Given the description of an element on the screen output the (x, y) to click on. 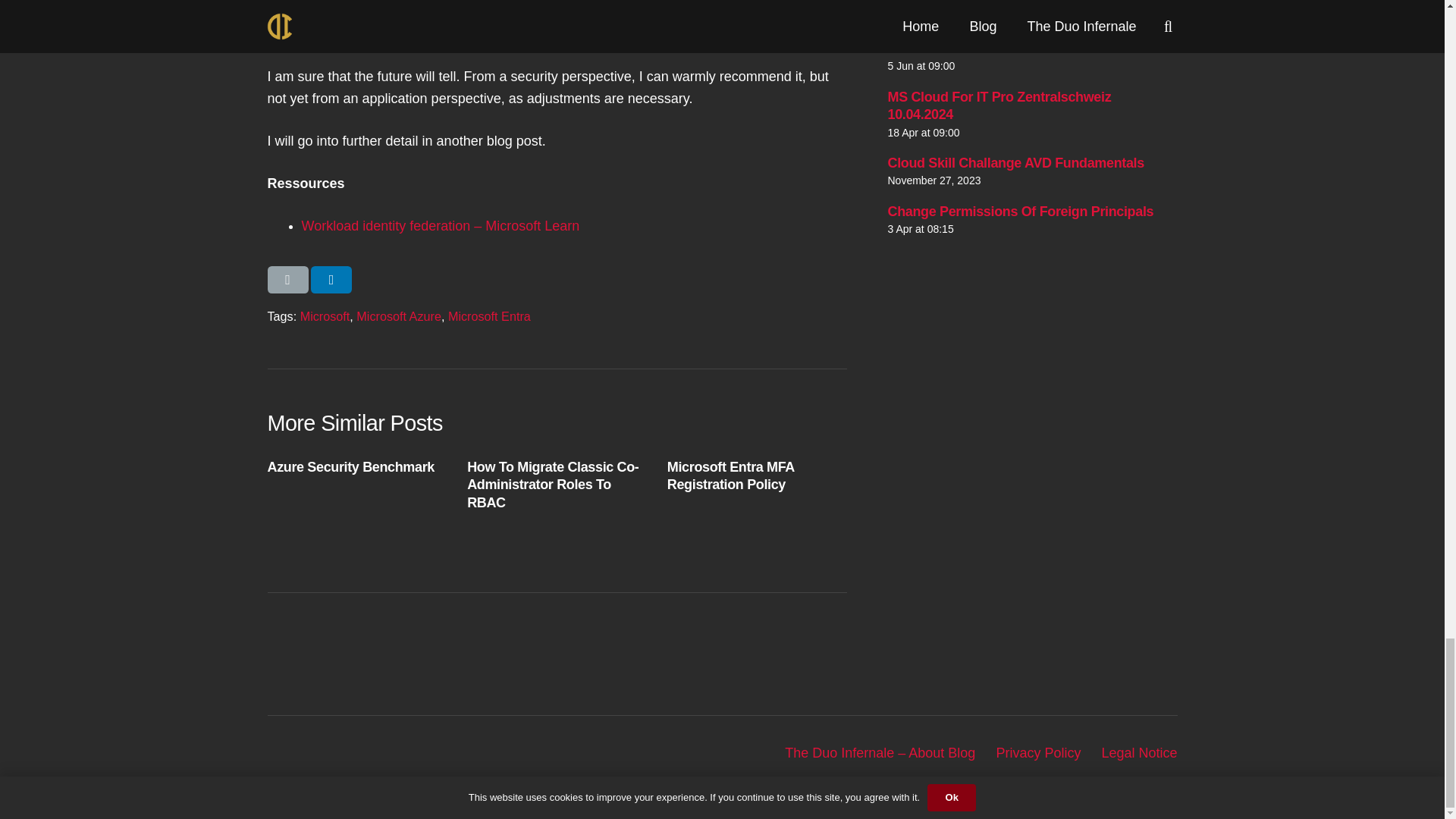
Microsoft (324, 315)
Legal Notice (1138, 752)
Share this (331, 279)
Azure Security Benchmark (349, 467)
Email this (286, 279)
Microsoft Entra MFA Registration Policy (730, 475)
Microsoft Azure (398, 315)
Privacy Policy (1037, 752)
How To Migrate Classic Co-Administrator Roles To RBAC (553, 484)
Microsoft Entra (489, 315)
